Given the description of an element on the screen output the (x, y) to click on. 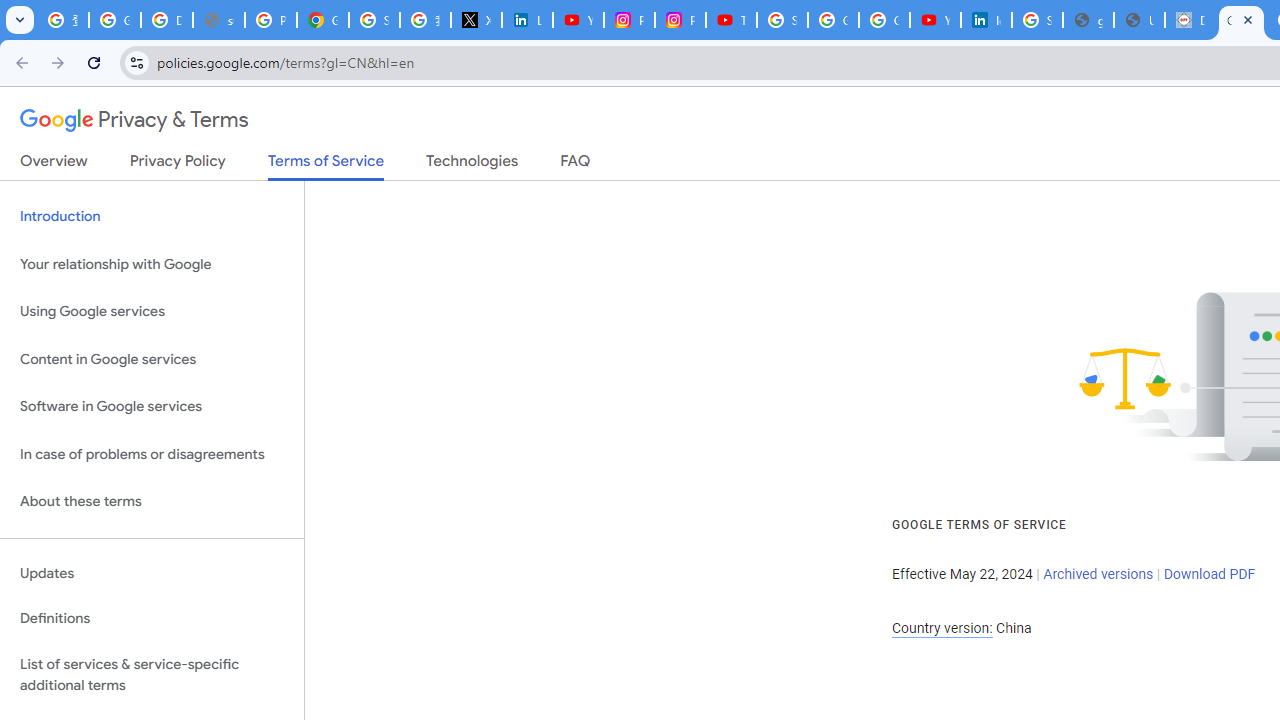
Your relationship with Google (152, 263)
google_privacy_policy_en.pdf (1087, 20)
